Given the description of an element on the screen output the (x, y) to click on. 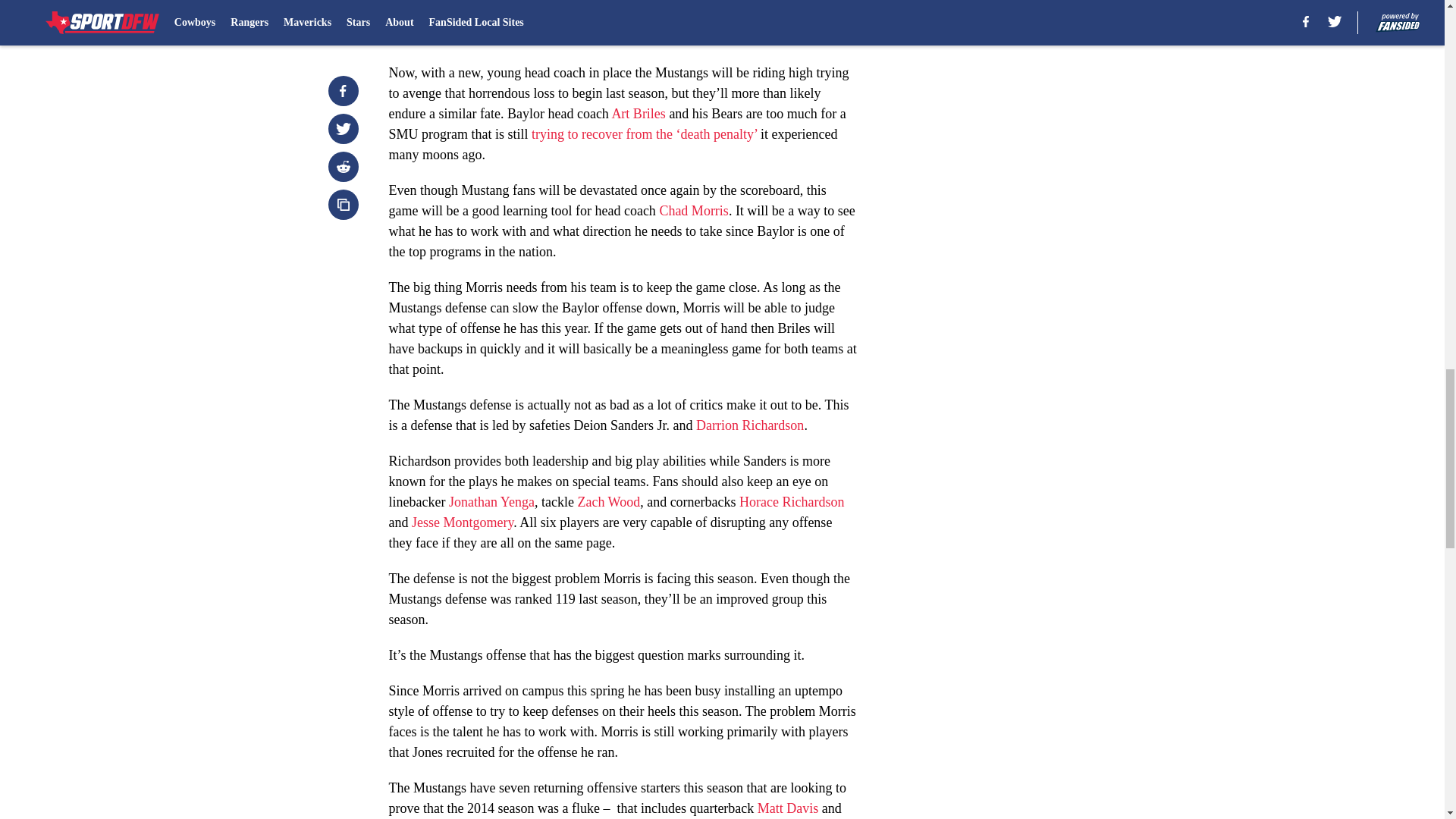
Zach Wood (608, 501)
Matt Davis (787, 807)
Horace Richardson (791, 501)
Darrion Richardson (749, 425)
Jonathan Yenga (491, 501)
Chad Morris (694, 210)
Jesse Montgomery (462, 522)
Art Briles (638, 113)
